Given the description of an element on the screen output the (x, y) to click on. 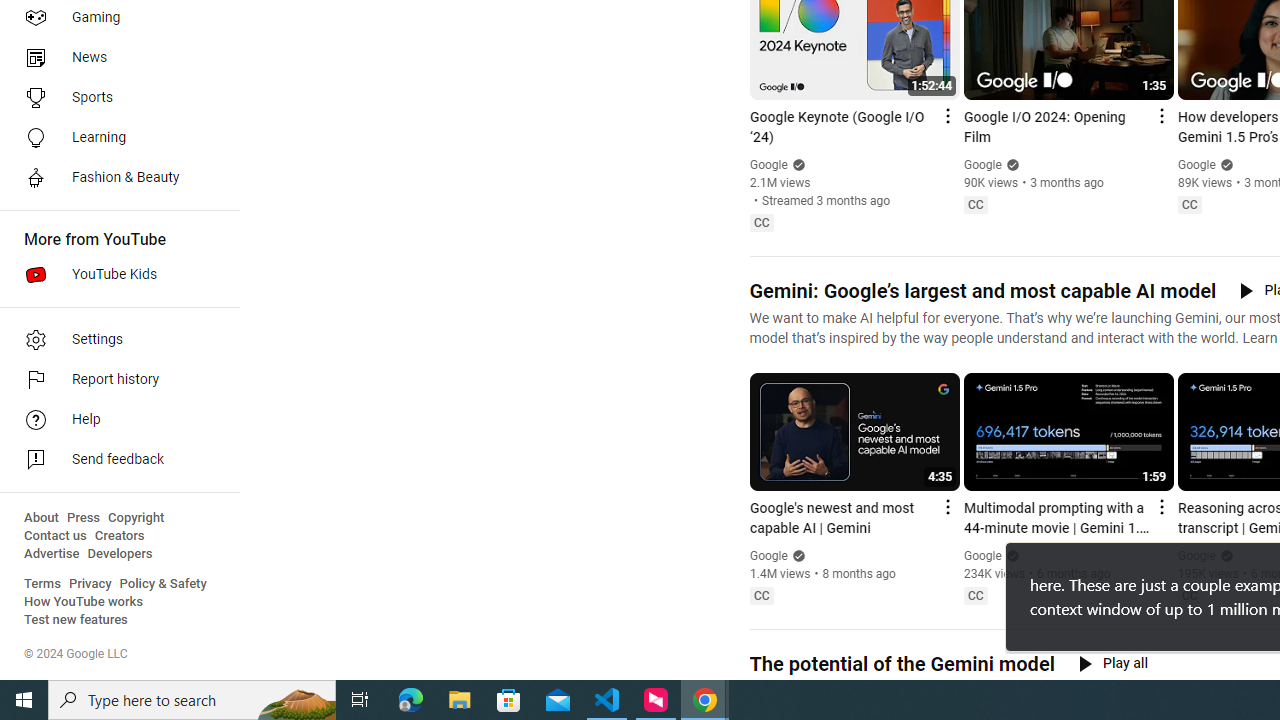
Play all (1113, 663)
